Given the description of an element on the screen output the (x, y) to click on. 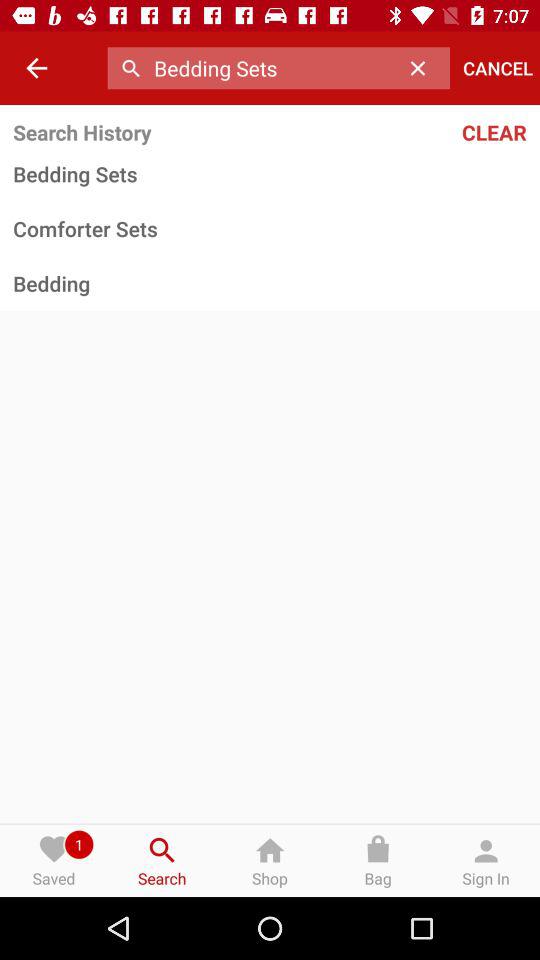
open the icon next to the bedding sets item (423, 67)
